Given the description of an element on the screen output the (x, y) to click on. 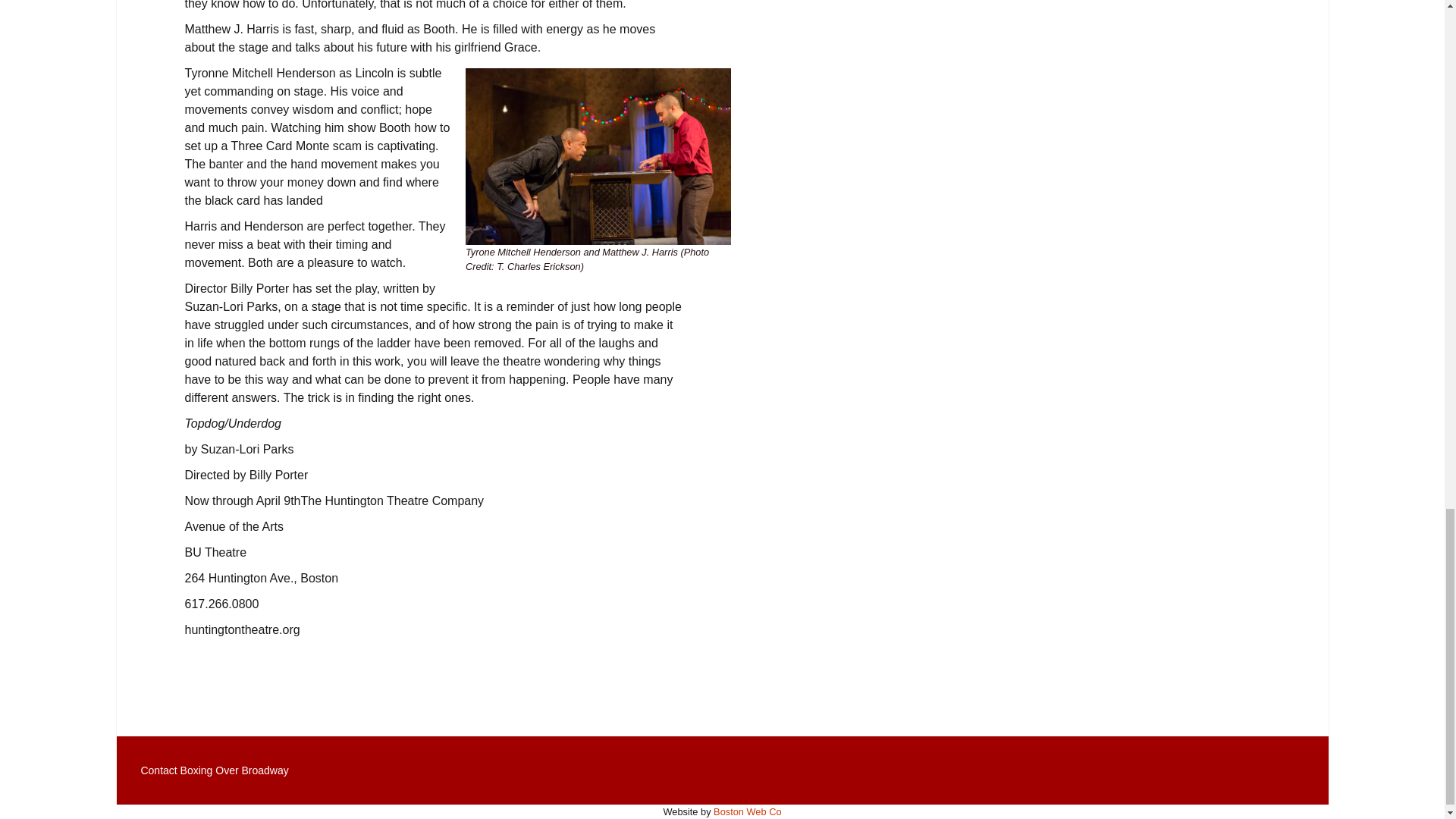
Page 2 (434, 104)
